Given the description of an element on the screen output the (x, y) to click on. 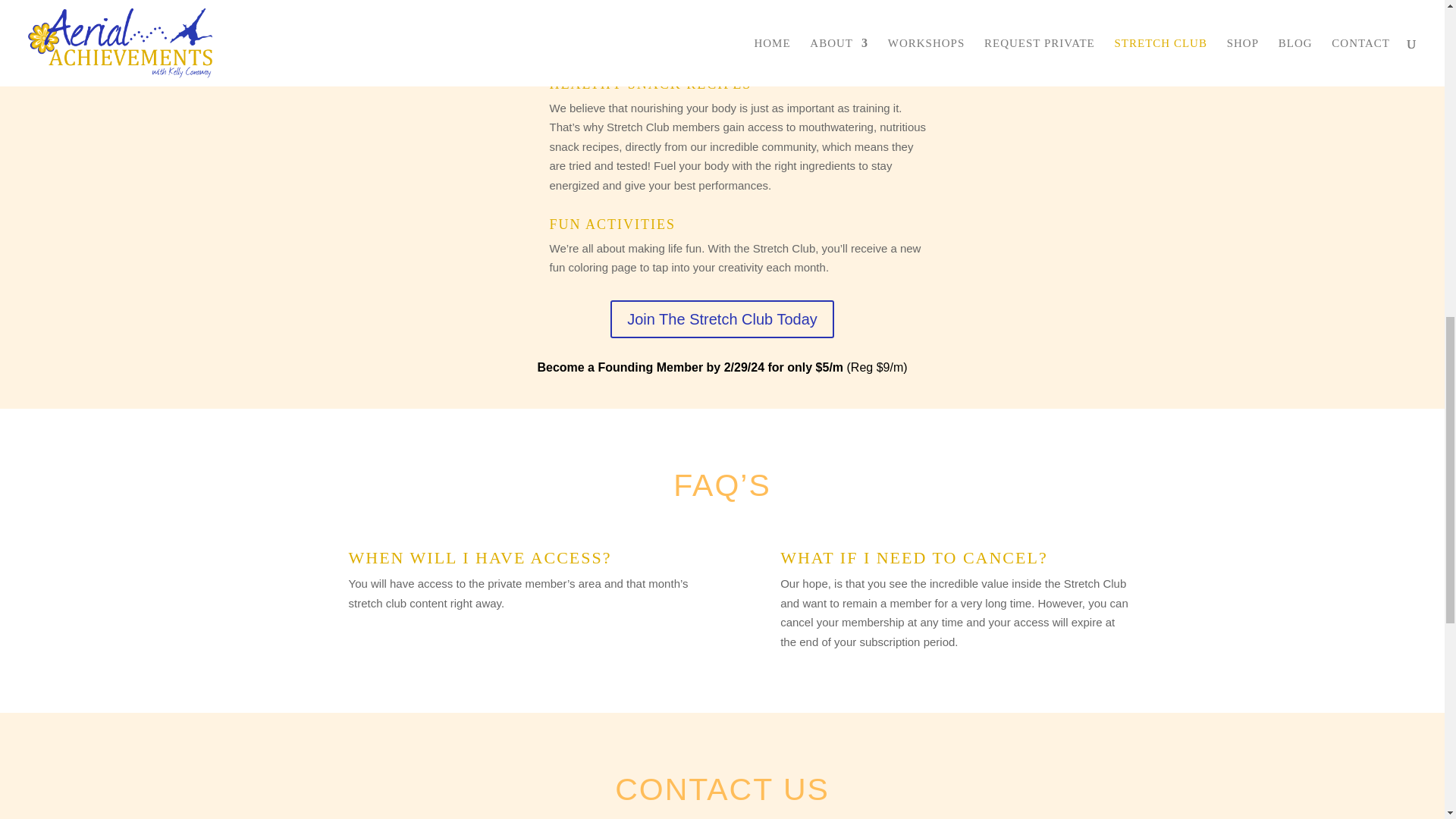
Join The Stretch Club Today (722, 319)
